Given the description of an element on the screen output the (x, y) to click on. 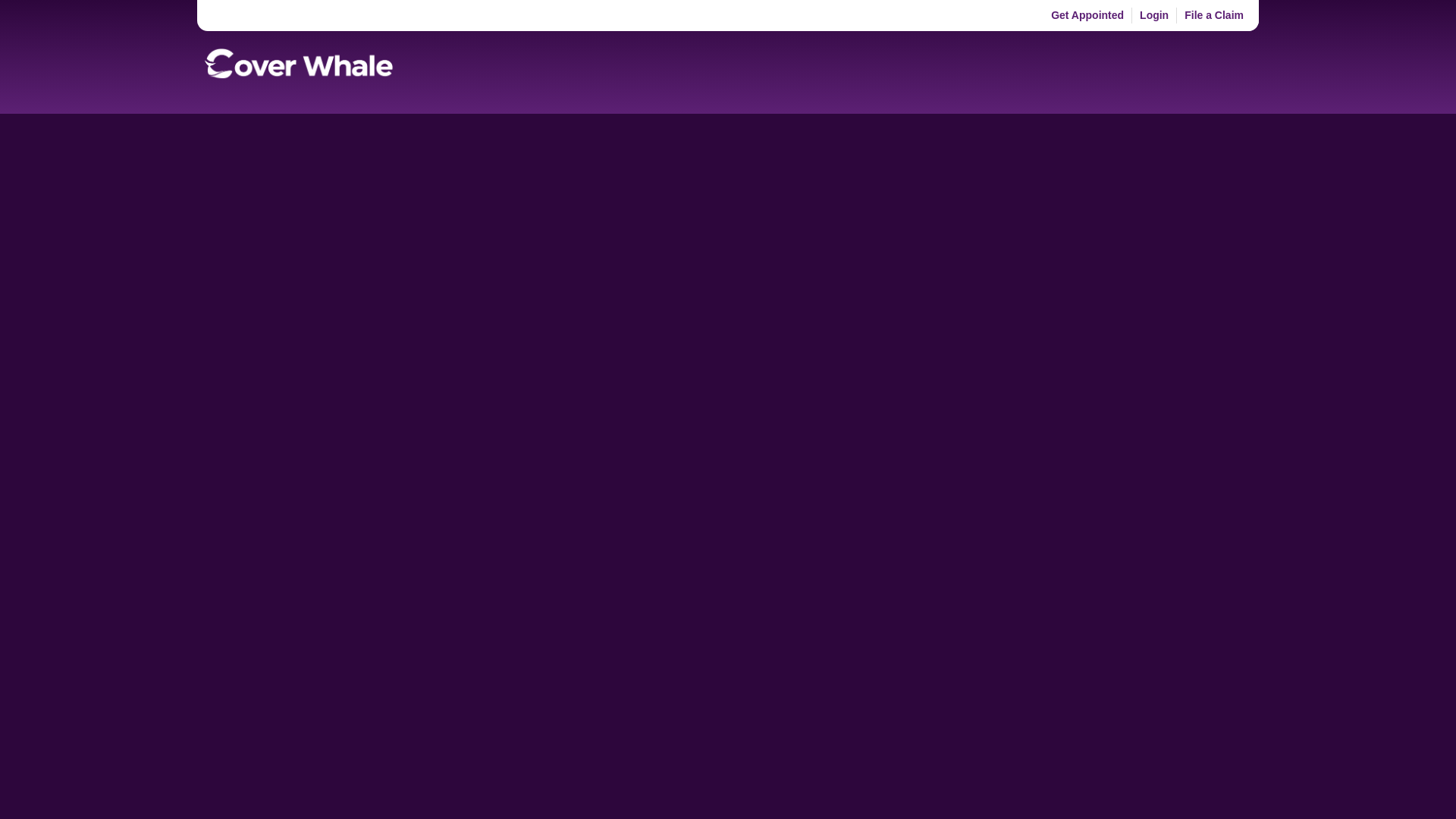
File a Claim (1214, 15)
Get Appointed (1087, 15)
Login (1154, 15)
